Given the description of an element on the screen output the (x, y) to click on. 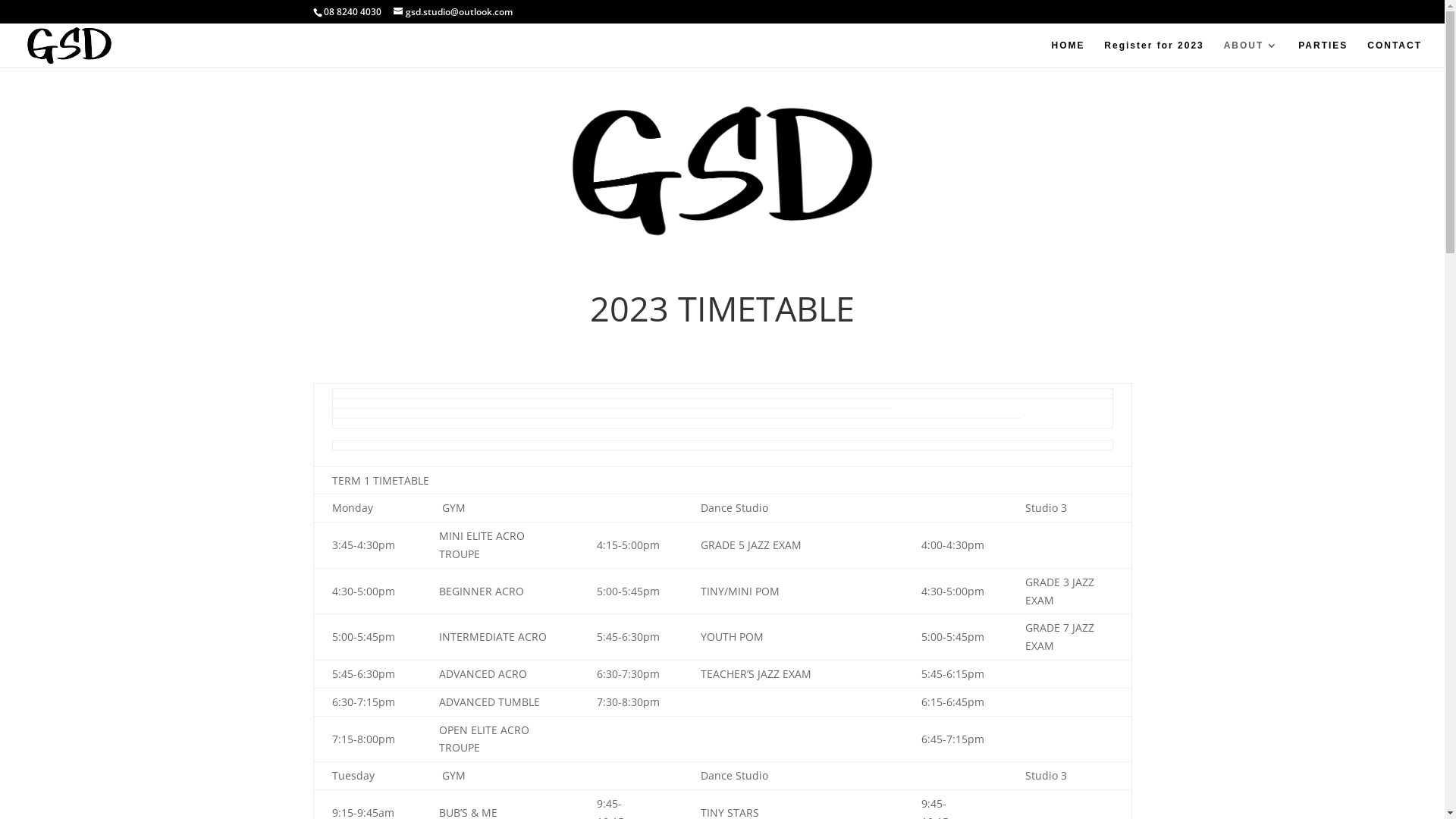
CONTACT Element type: text (1394, 53)
gsd.studio@outlook.com Element type: text (451, 11)
HOME Element type: text (1067, 53)
Register for 2023 Element type: text (1153, 53)
PARTIES Element type: text (1322, 53)
ABOUT Element type: text (1251, 53)
